Given the description of an element on the screen output the (x, y) to click on. 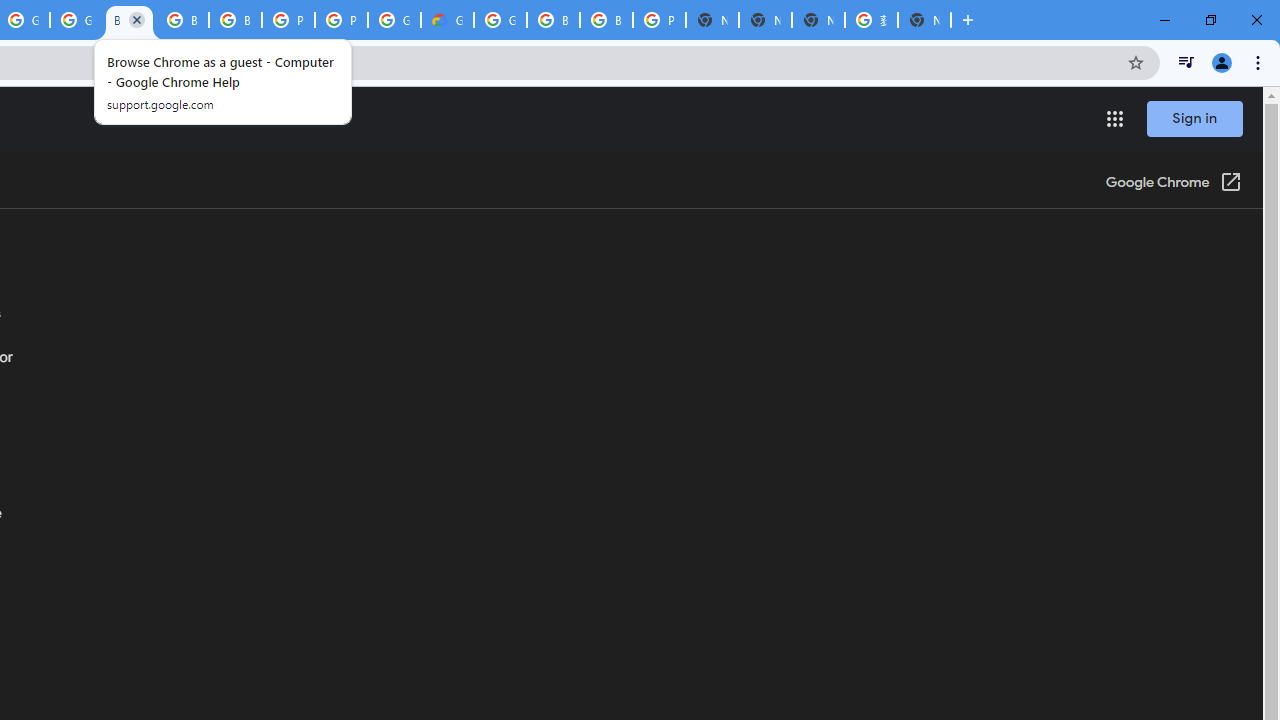
New Tab (924, 20)
Google Cloud Platform (394, 20)
Browse Chrome as a guest - Computer - Google Chrome Help (553, 20)
New Tab (712, 20)
Browse Chrome as a guest - Computer - Google Chrome Help (129, 20)
Google Cloud Platform (500, 20)
